Given the description of an element on the screen output the (x, y) to click on. 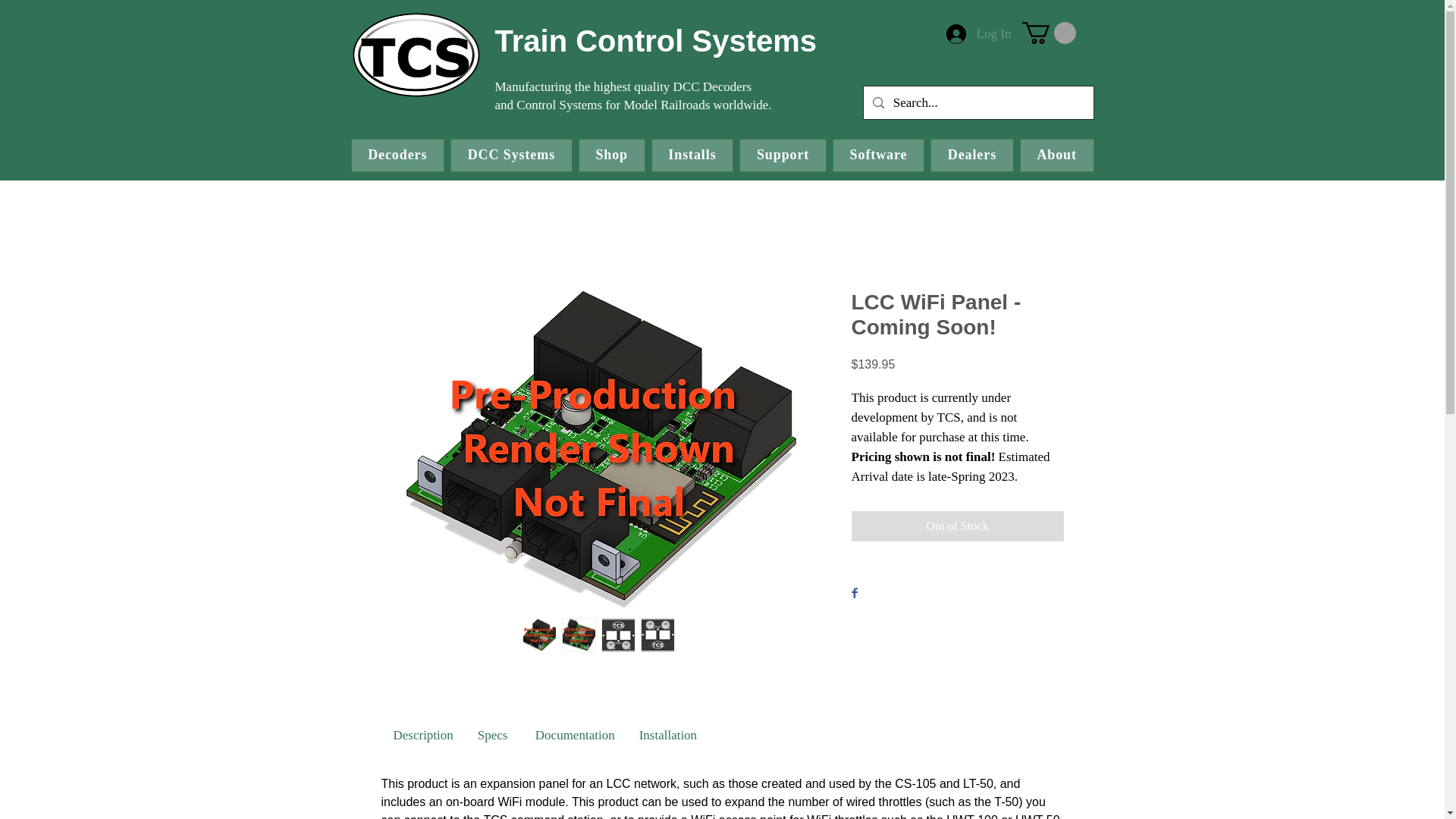
Use right and left arrows to navigate between tabs (494, 735)
Log In (979, 33)
Use right and left arrows to navigate between tabs (575, 735)
Use right and left arrows to navigate between tabs (422, 735)
Use right and left arrows to navigate between tabs (667, 735)
